Given the description of an element on the screen output the (x, y) to click on. 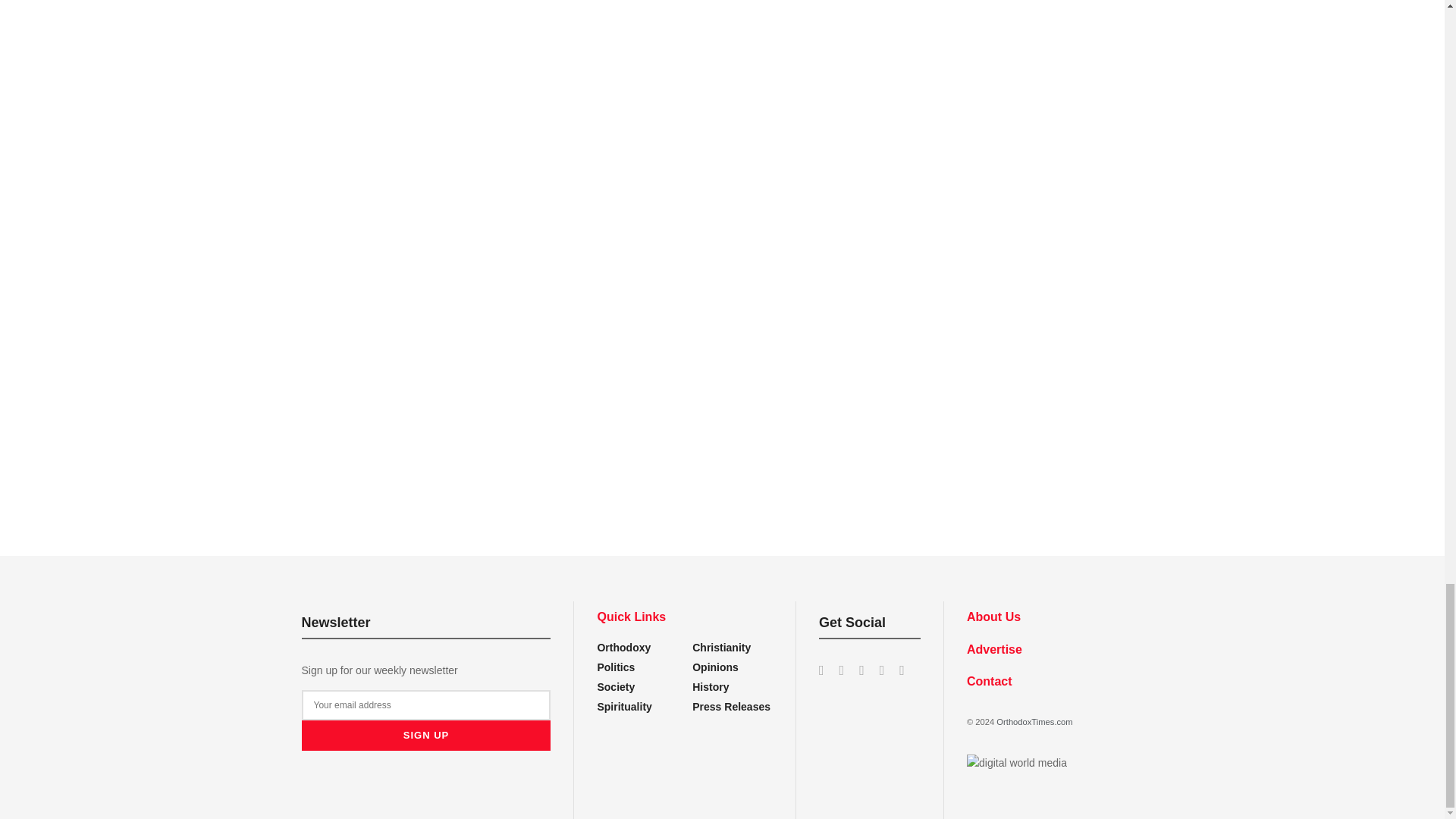
Sign up (426, 735)
OrthodoxTimes.com (1033, 721)
You can add some category description here. (731, 706)
You can add some category description here. (711, 686)
